Given the description of an element on the screen output the (x, y) to click on. 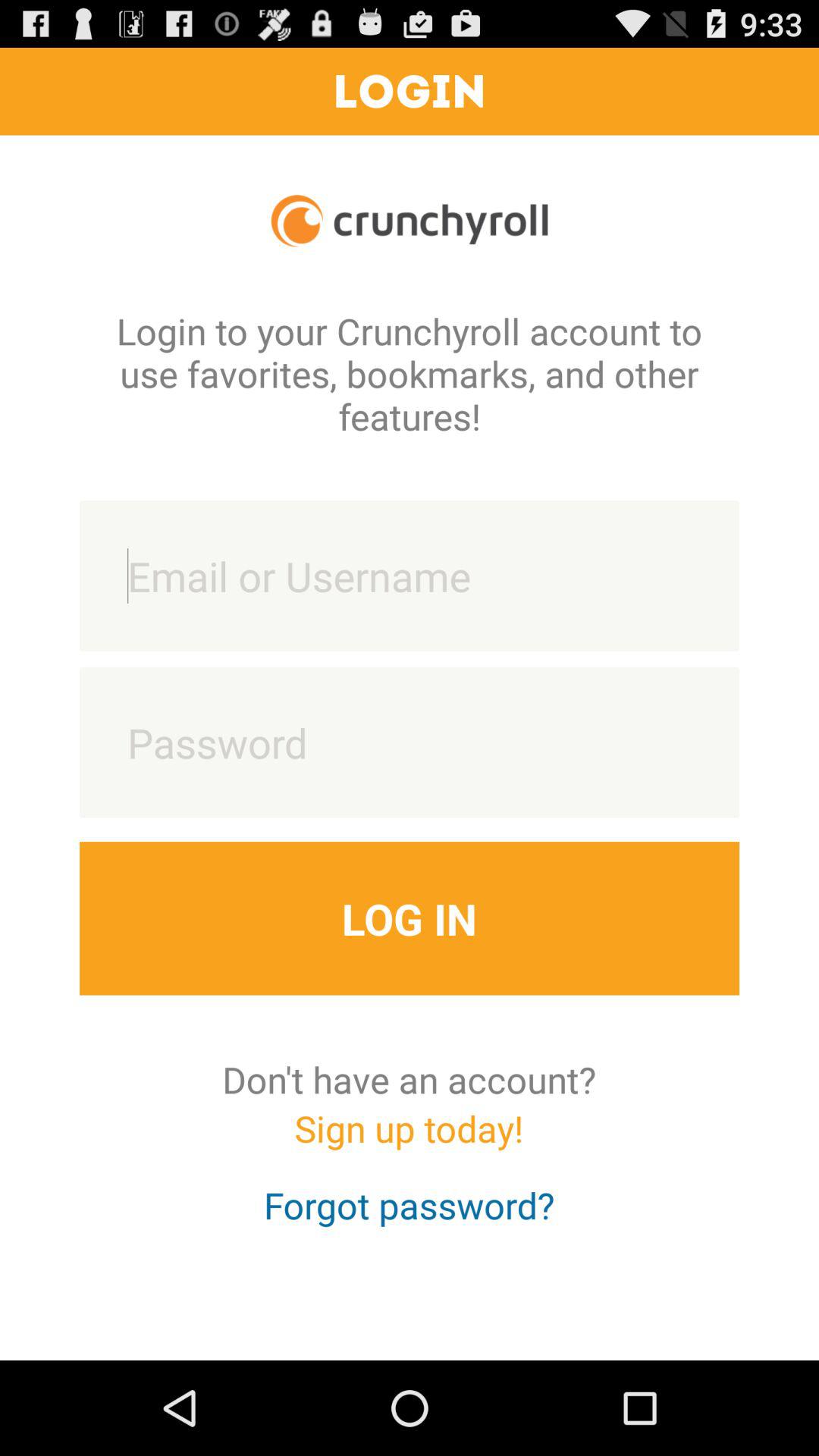
put email or username (409, 575)
